Given the description of an element on the screen output the (x, y) to click on. 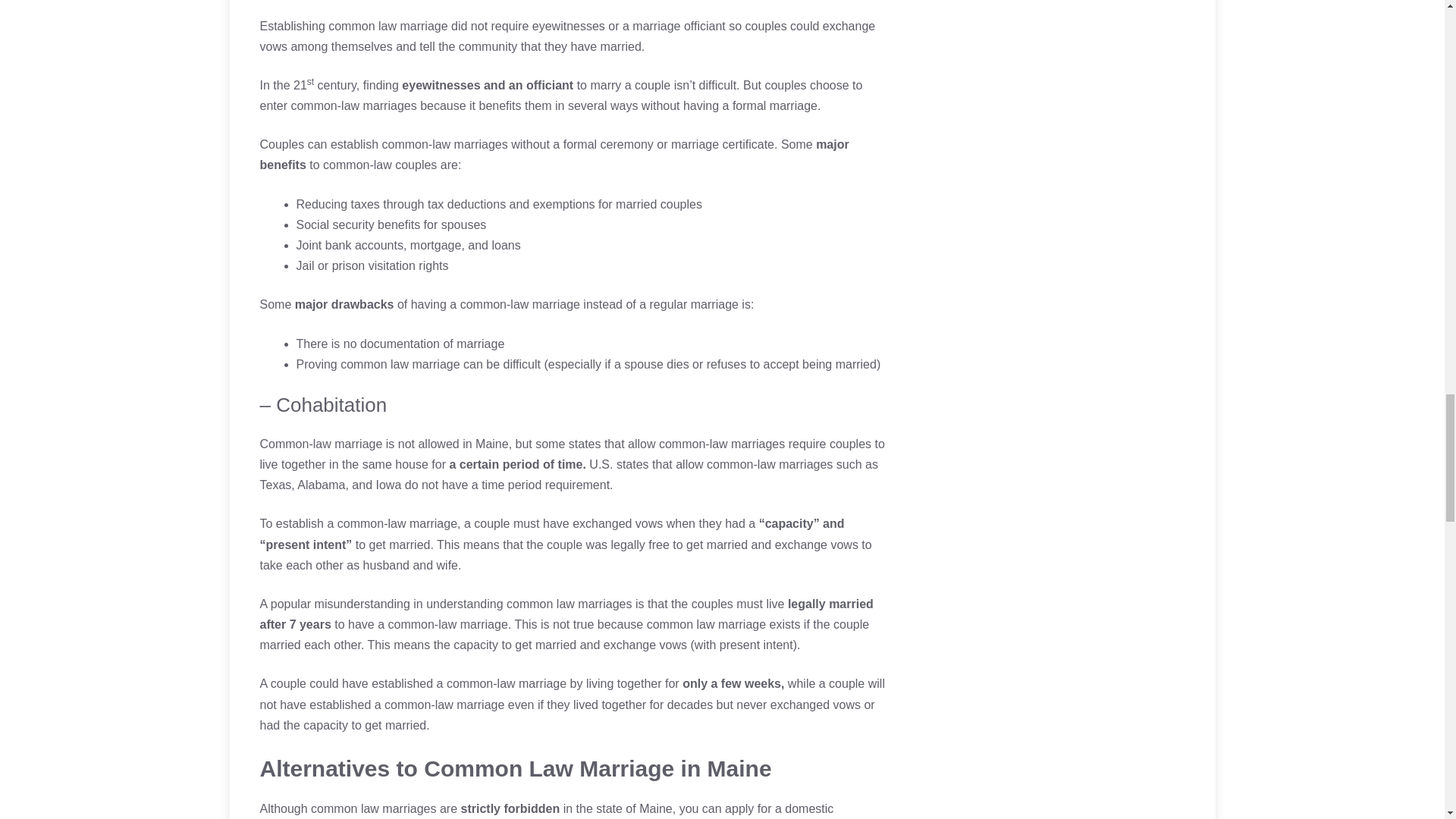
common law marriage (387, 25)
common law marriages (373, 808)
benefits for spouses (431, 224)
